Given the description of an element on the screen output the (x, y) to click on. 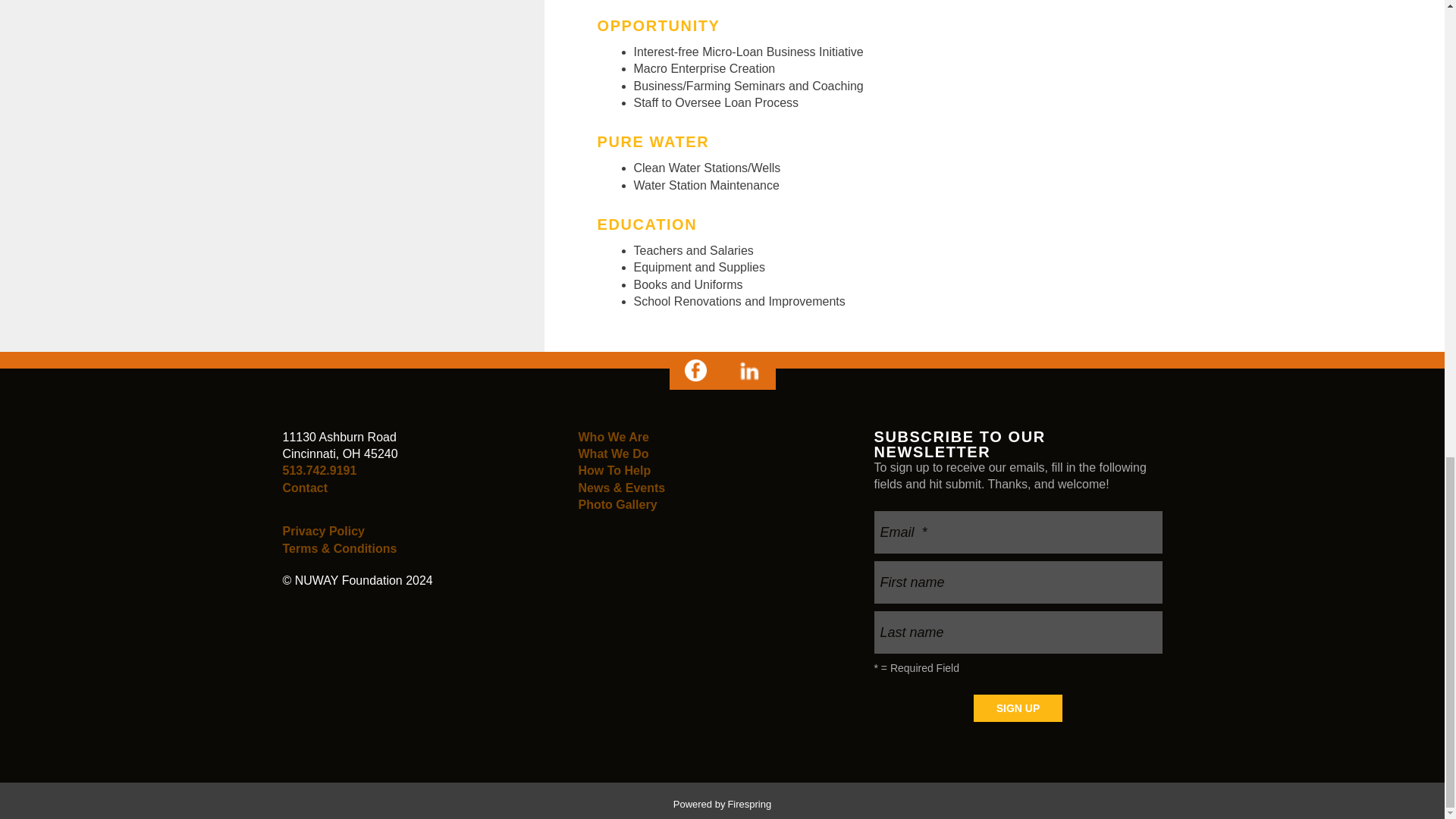
Sign Up (1018, 707)
